Given the description of an element on the screen output the (x, y) to click on. 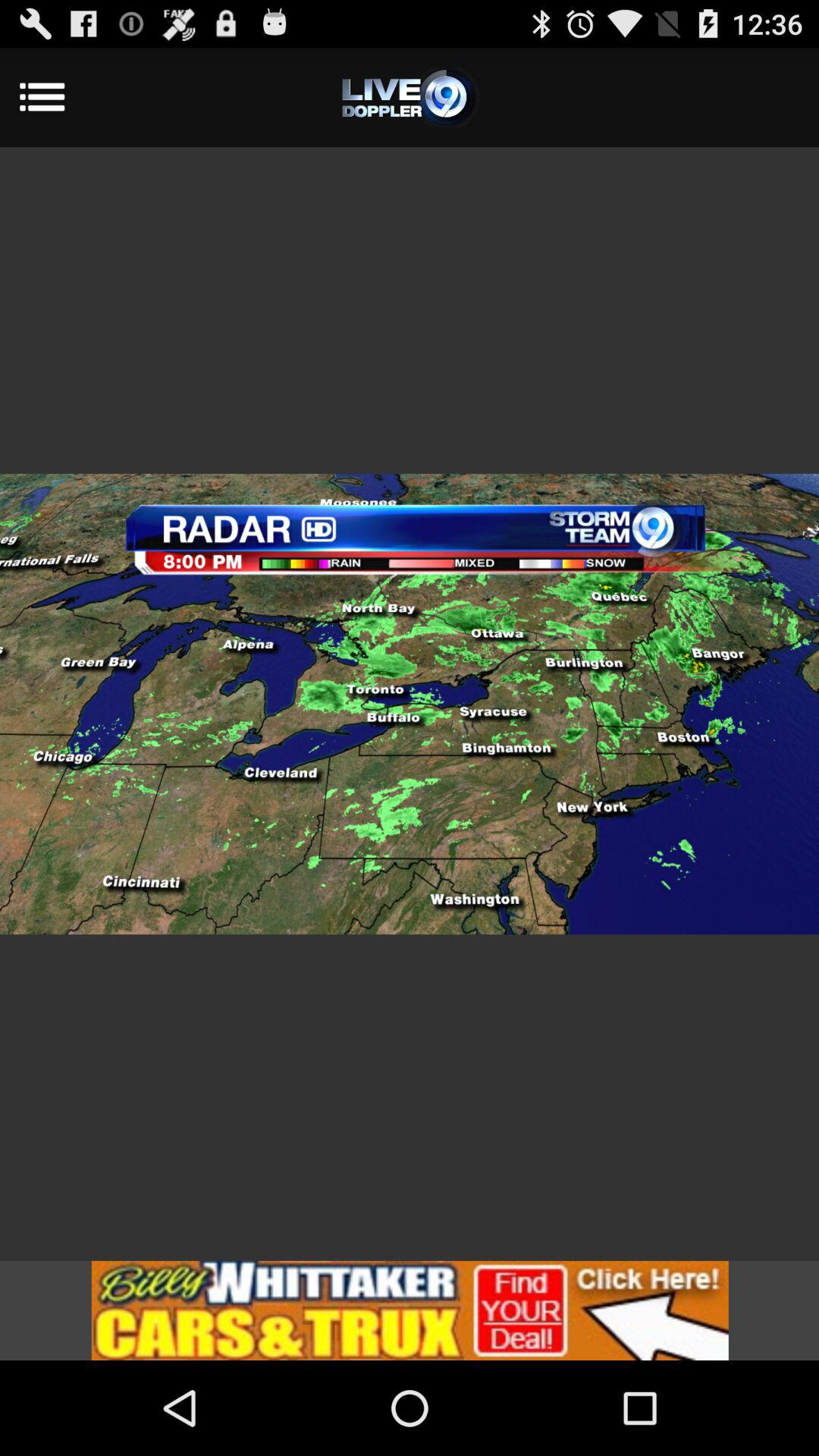
expands the image (409, 703)
